Given the description of an element on the screen output the (x, y) to click on. 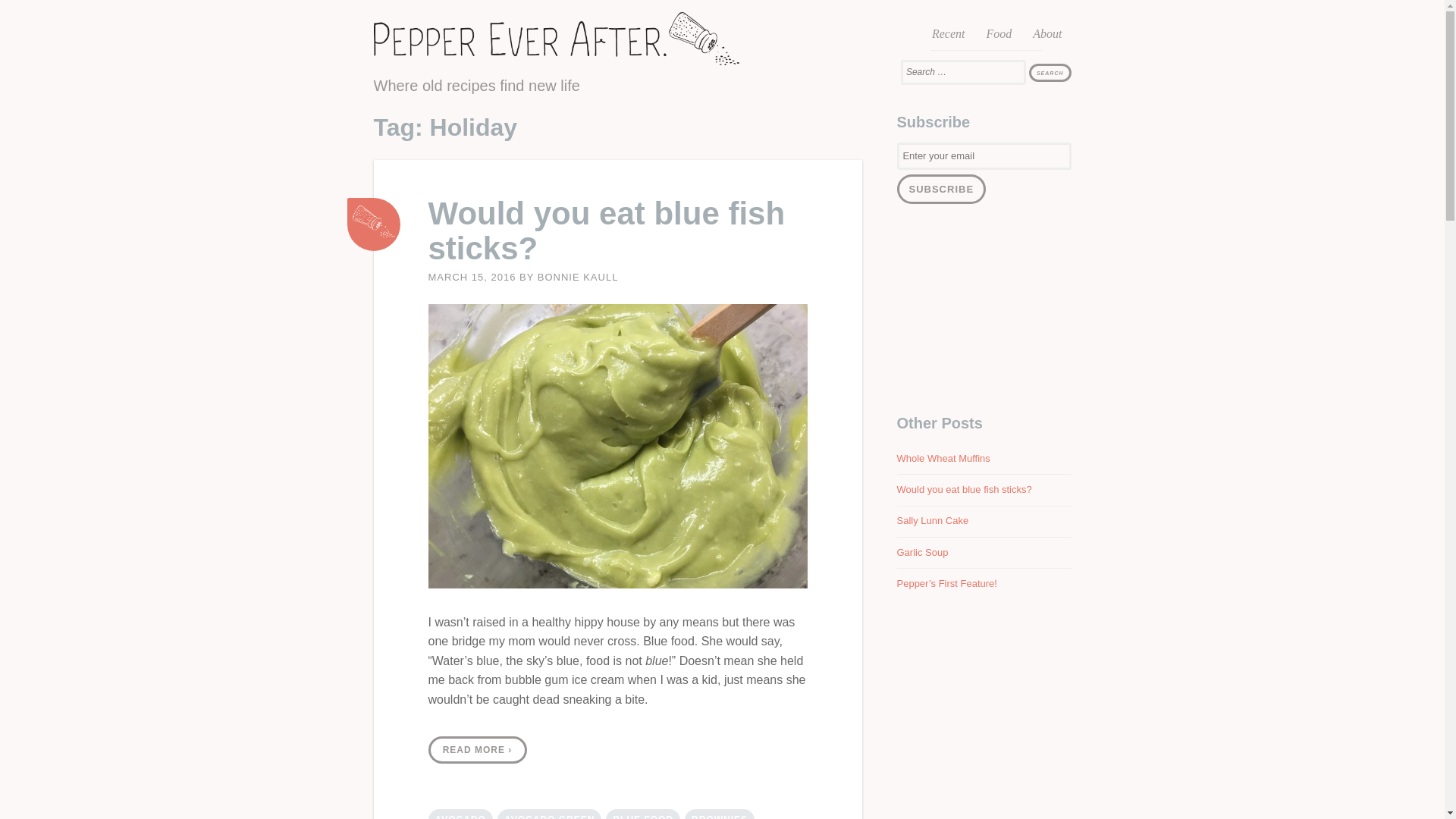
Would you eat blue fish sticks? (606, 230)
Advertisement (983, 308)
Search (1050, 72)
Search (1050, 72)
Search (1050, 72)
Would you eat blue fish sticks? (373, 224)
Food (998, 36)
About (1046, 36)
Subscribe (940, 188)
